Given the description of an element on the screen output the (x, y) to click on. 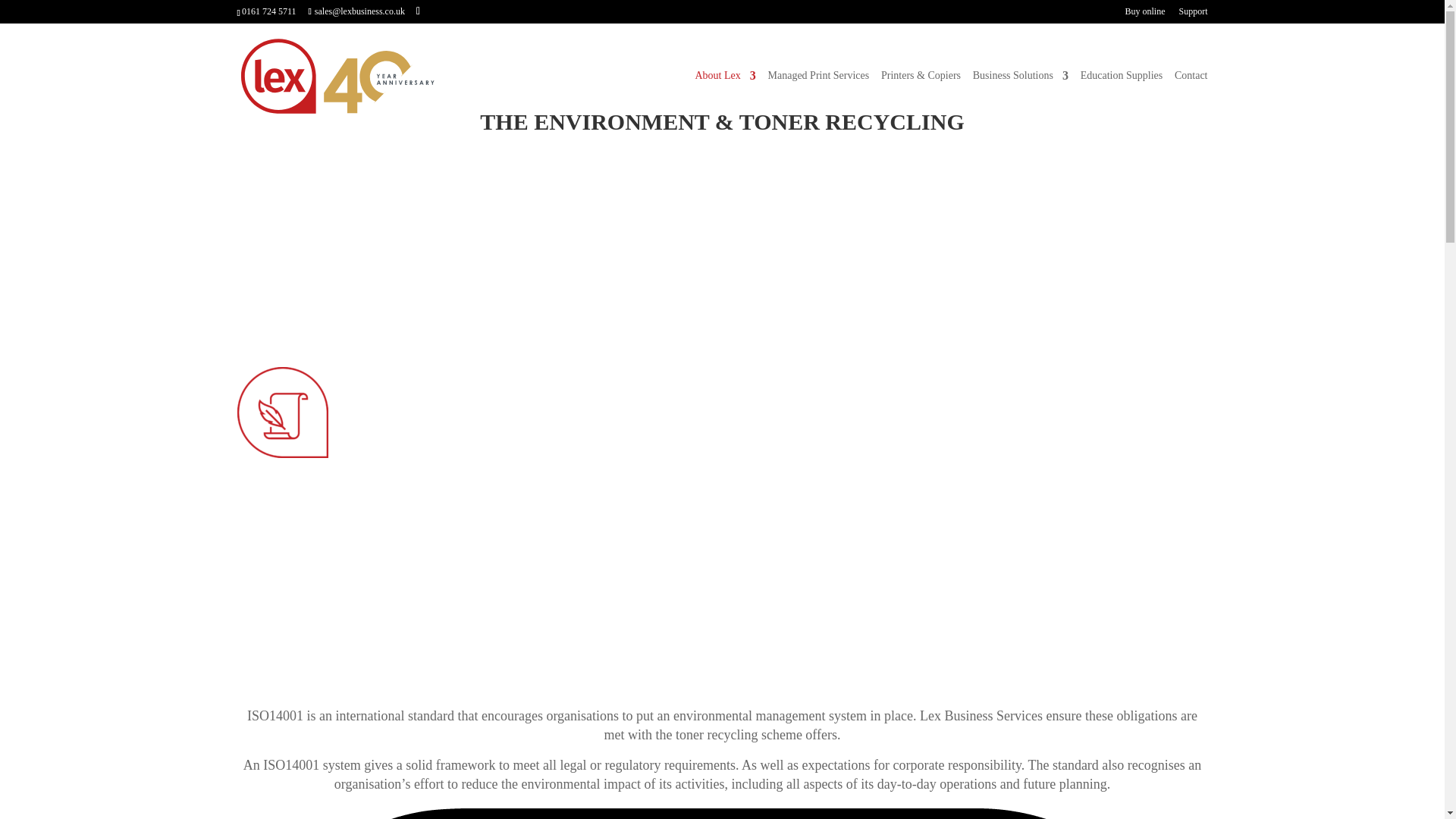
about-icon3 (281, 411)
Buy online (1144, 14)
Education Supplies (1121, 99)
Managed Print Services (818, 99)
Business Solutions (1020, 99)
Support (1192, 14)
About Lex (724, 99)
